Given the description of an element on the screen output the (x, y) to click on. 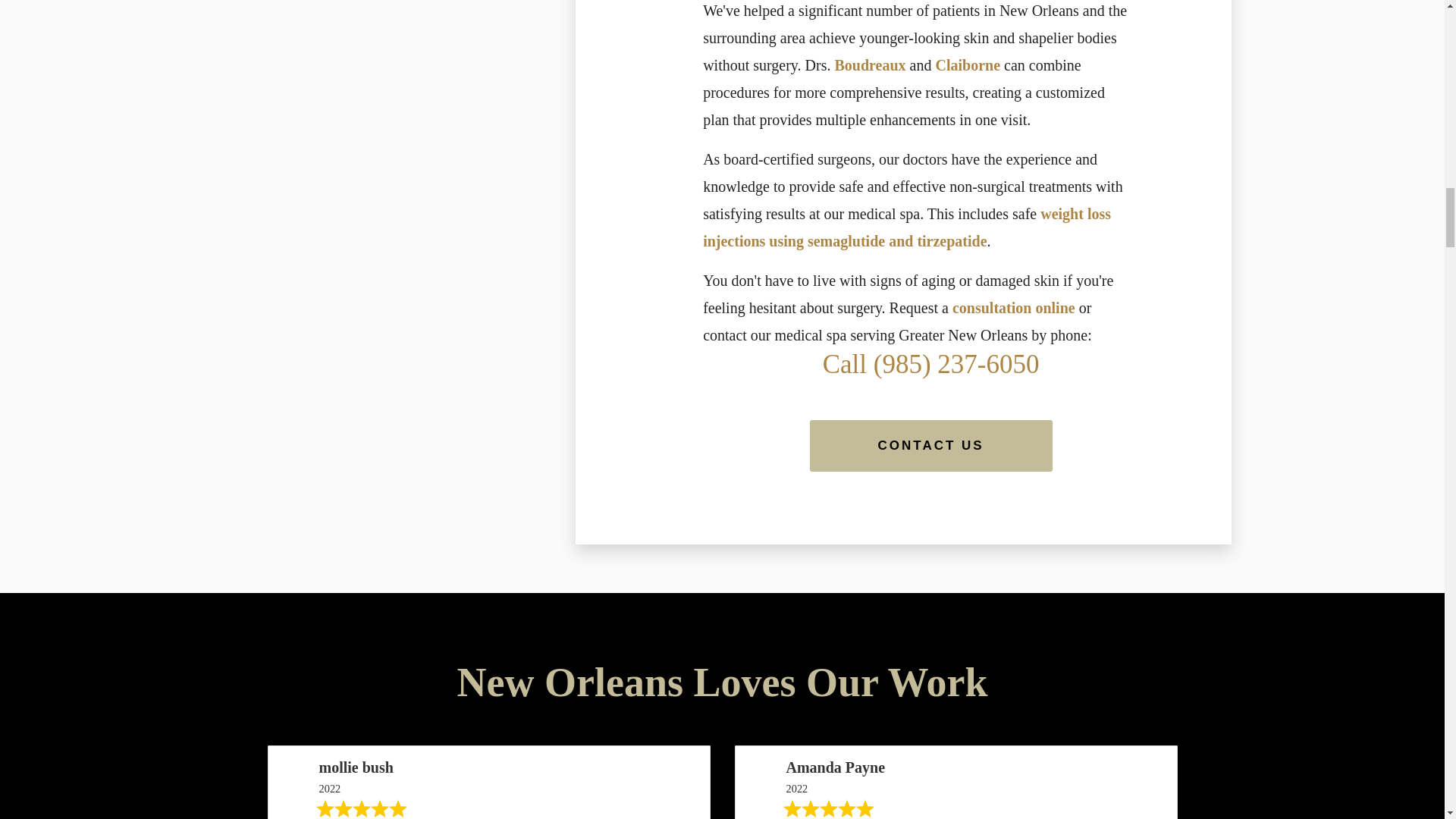
Claiborne (967, 64)
CONTACT US (930, 446)
consultation online (1013, 307)
weight loss injections using semaglutide and tirzepatide (906, 227)
Boudreaux (869, 64)
